Given the description of an element on the screen output the (x, y) to click on. 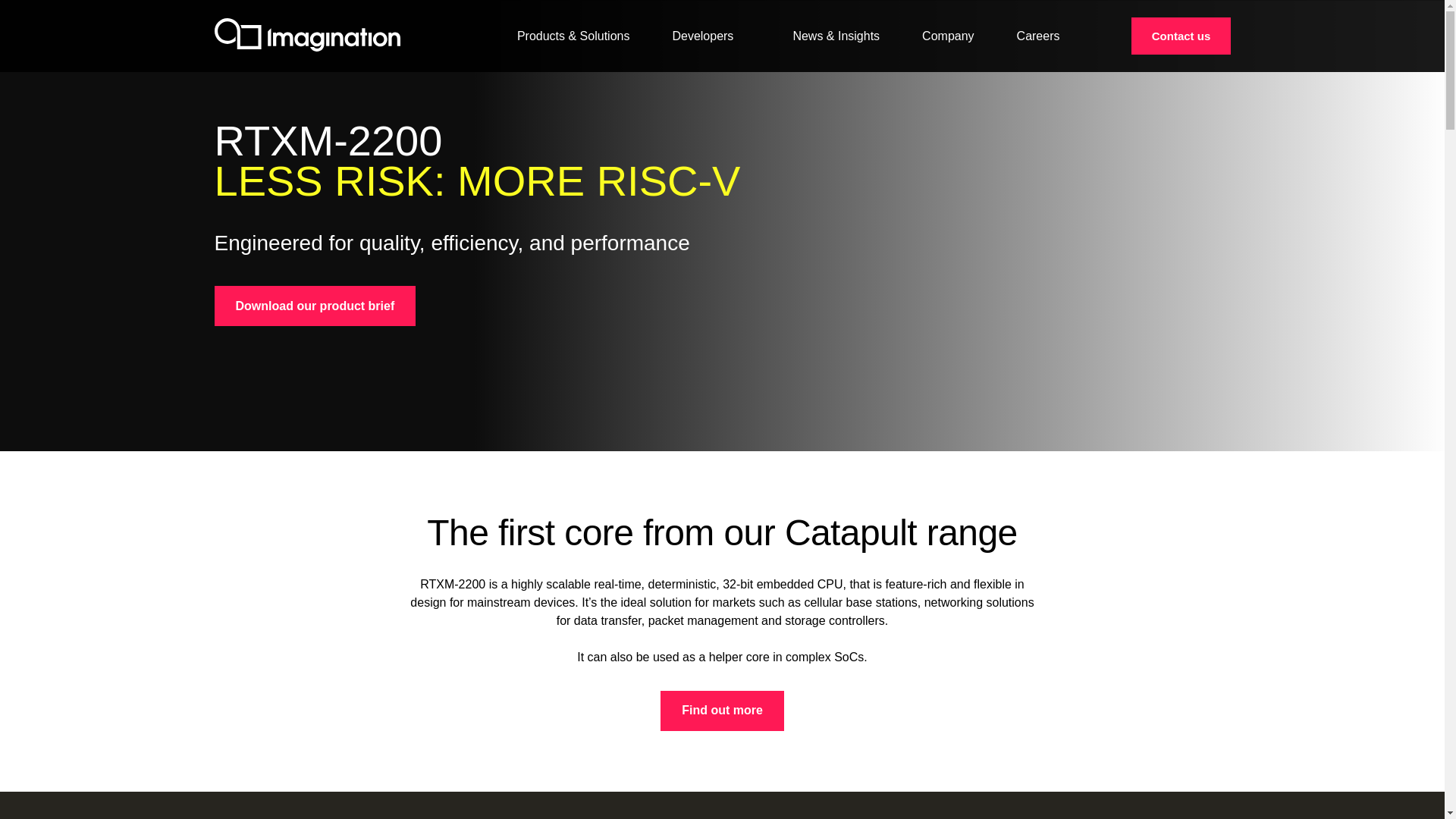
Developers (710, 35)
Company (947, 35)
